Given the description of an element on the screen output the (x, y) to click on. 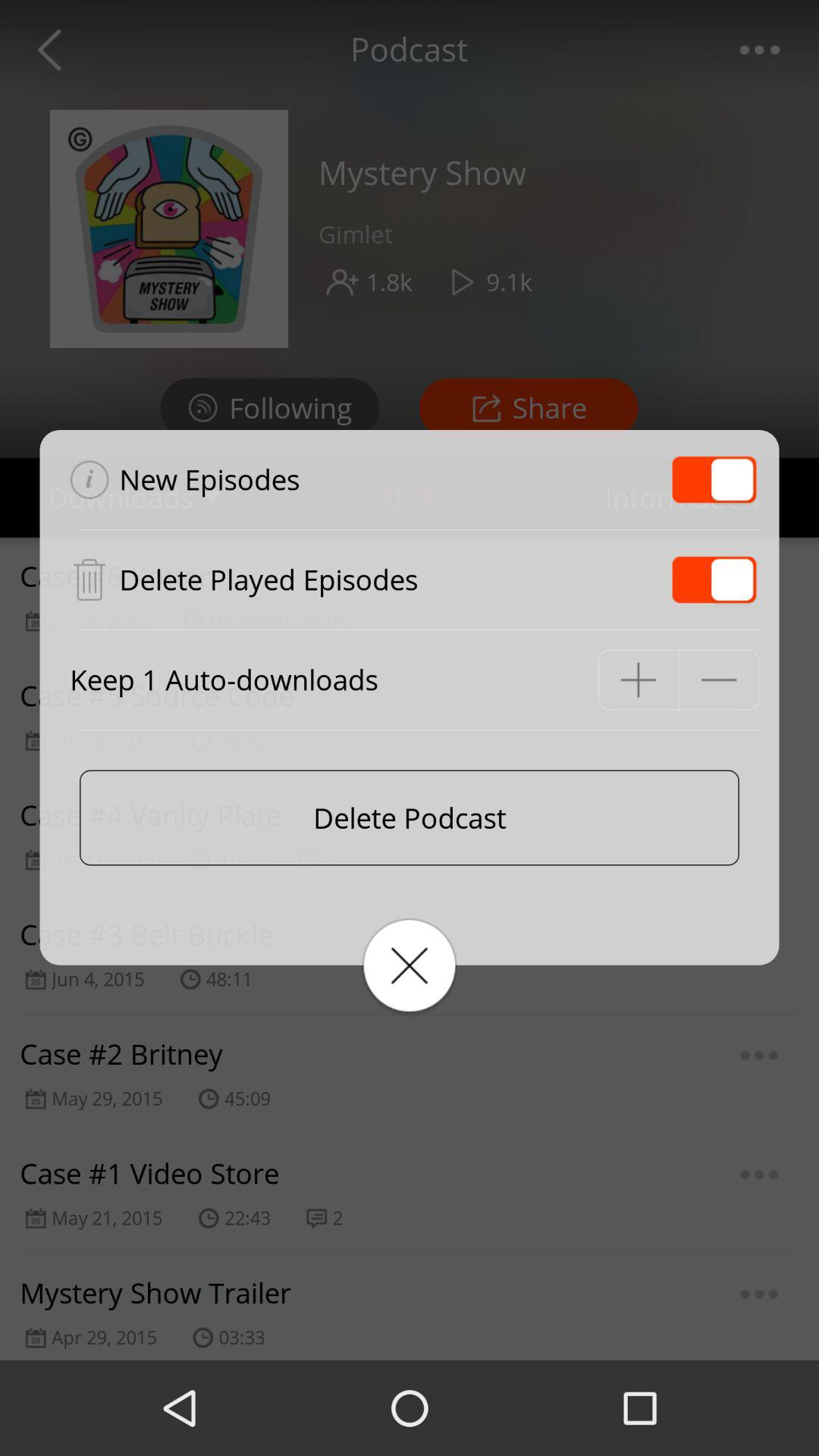
select the item at the top right corner (714, 479)
